Given the description of an element on the screen output the (x, y) to click on. 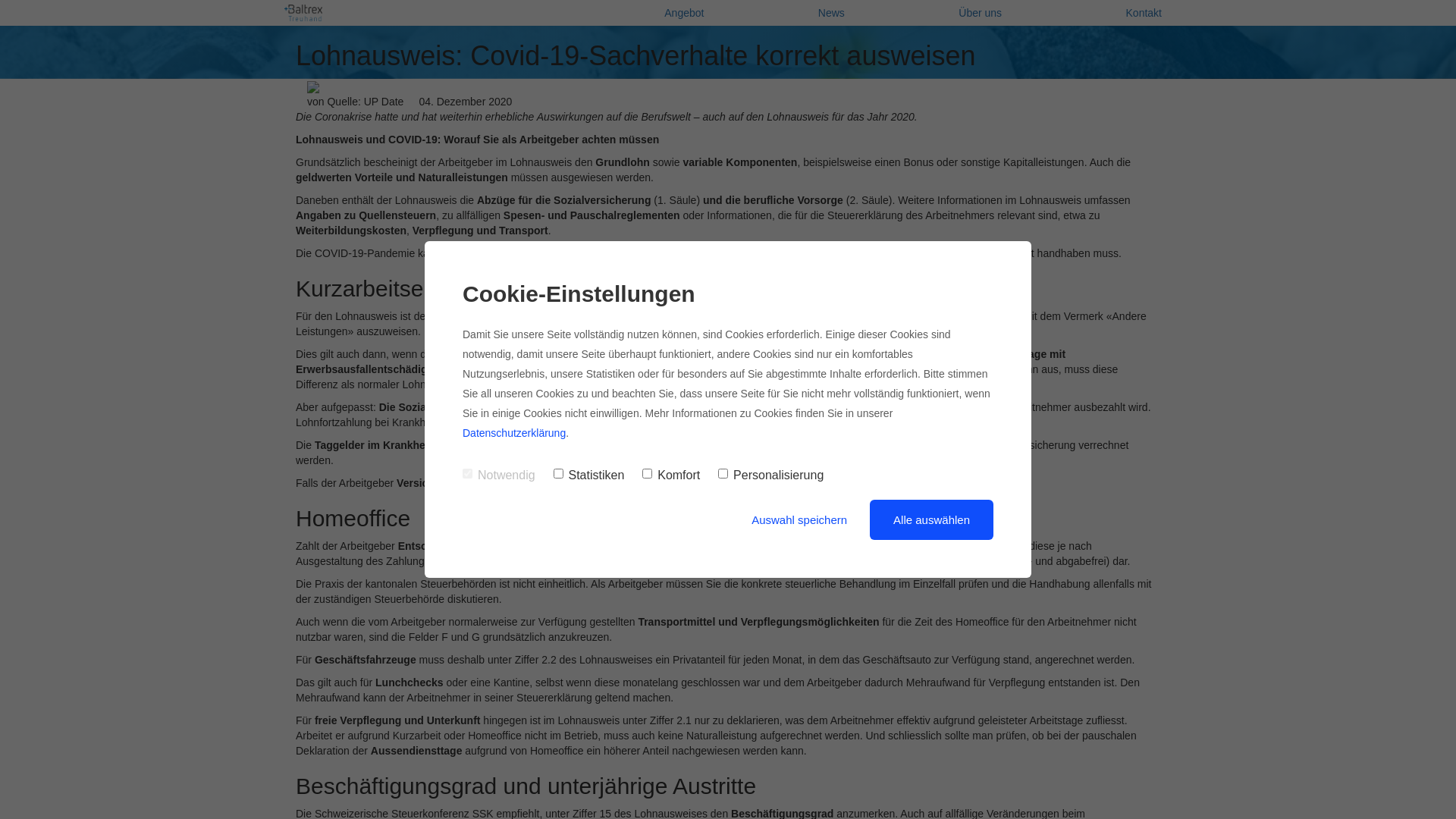
News Element type: text (831, 12)
Auswahl speichern Element type: text (799, 519)
Kontakt Element type: text (1143, 12)
Angebot Element type: text (683, 12)
